Given the description of an element on the screen output the (x, y) to click on. 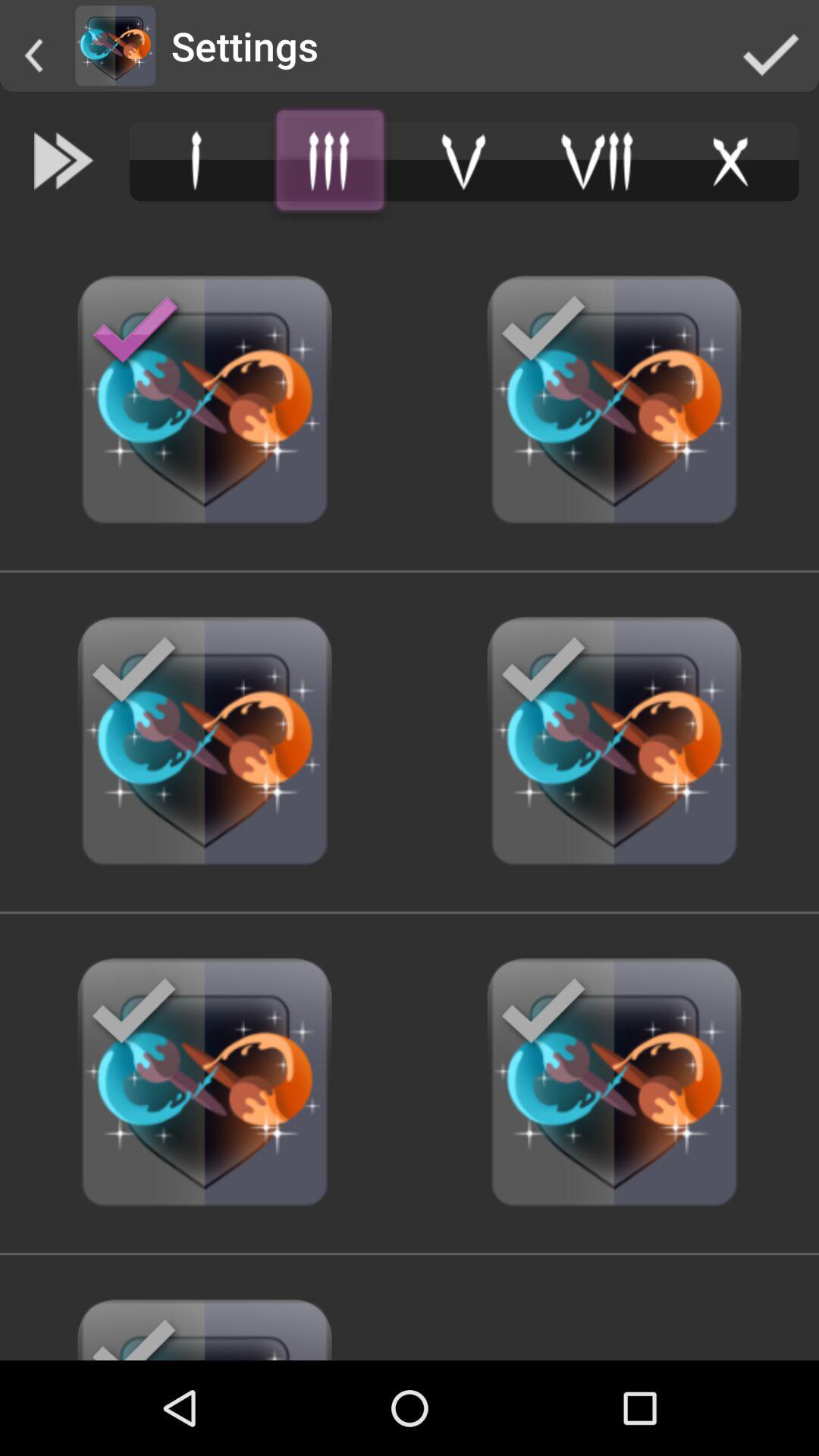
choose the item below the settings app (329, 161)
